Given the description of an element on the screen output the (x, y) to click on. 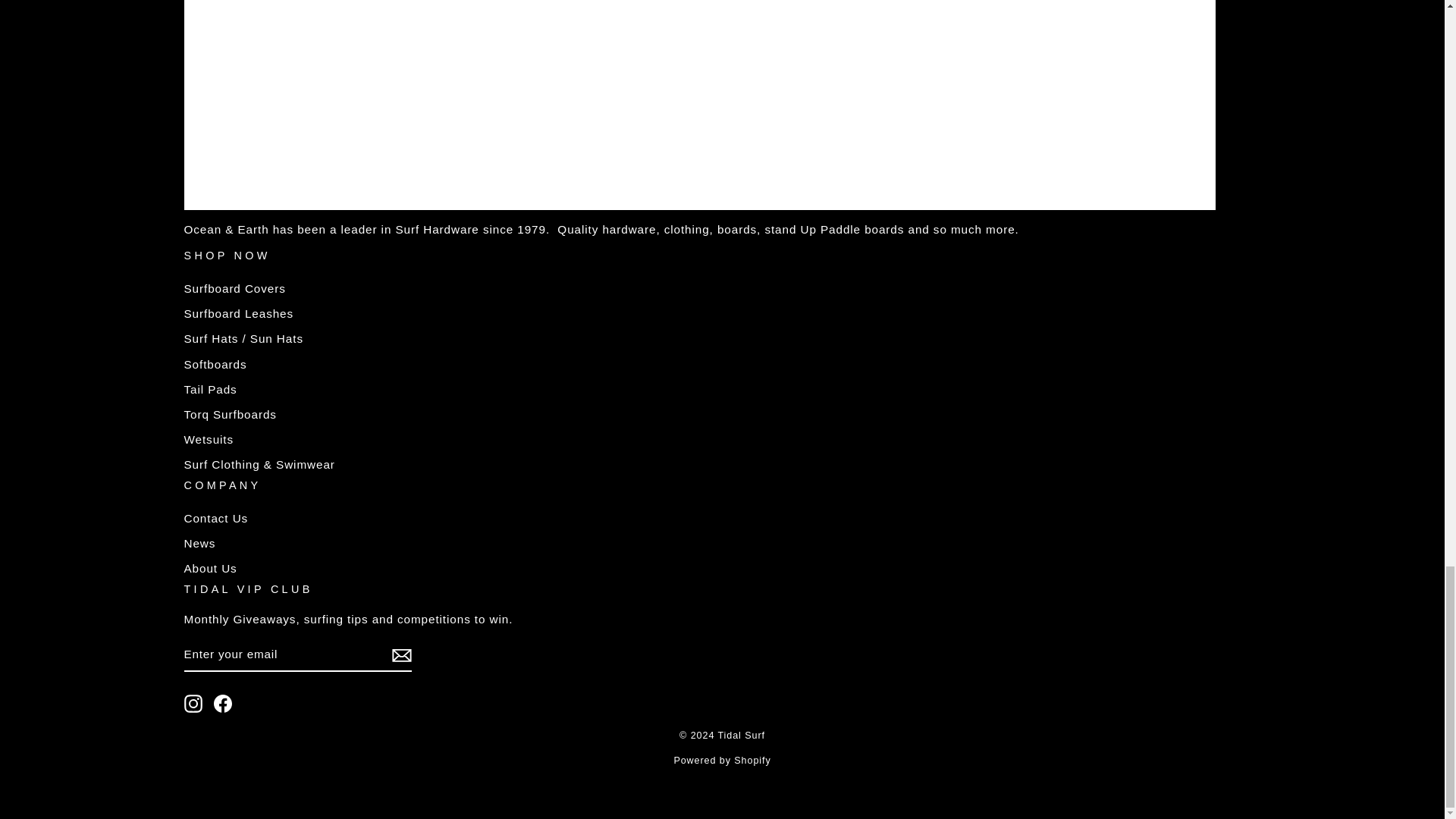
Tidal Surf on Instagram (192, 703)
instagram (192, 703)
Tidal Surf on Facebook (222, 703)
icon-email (400, 656)
